Given the description of an element on the screen output the (x, y) to click on. 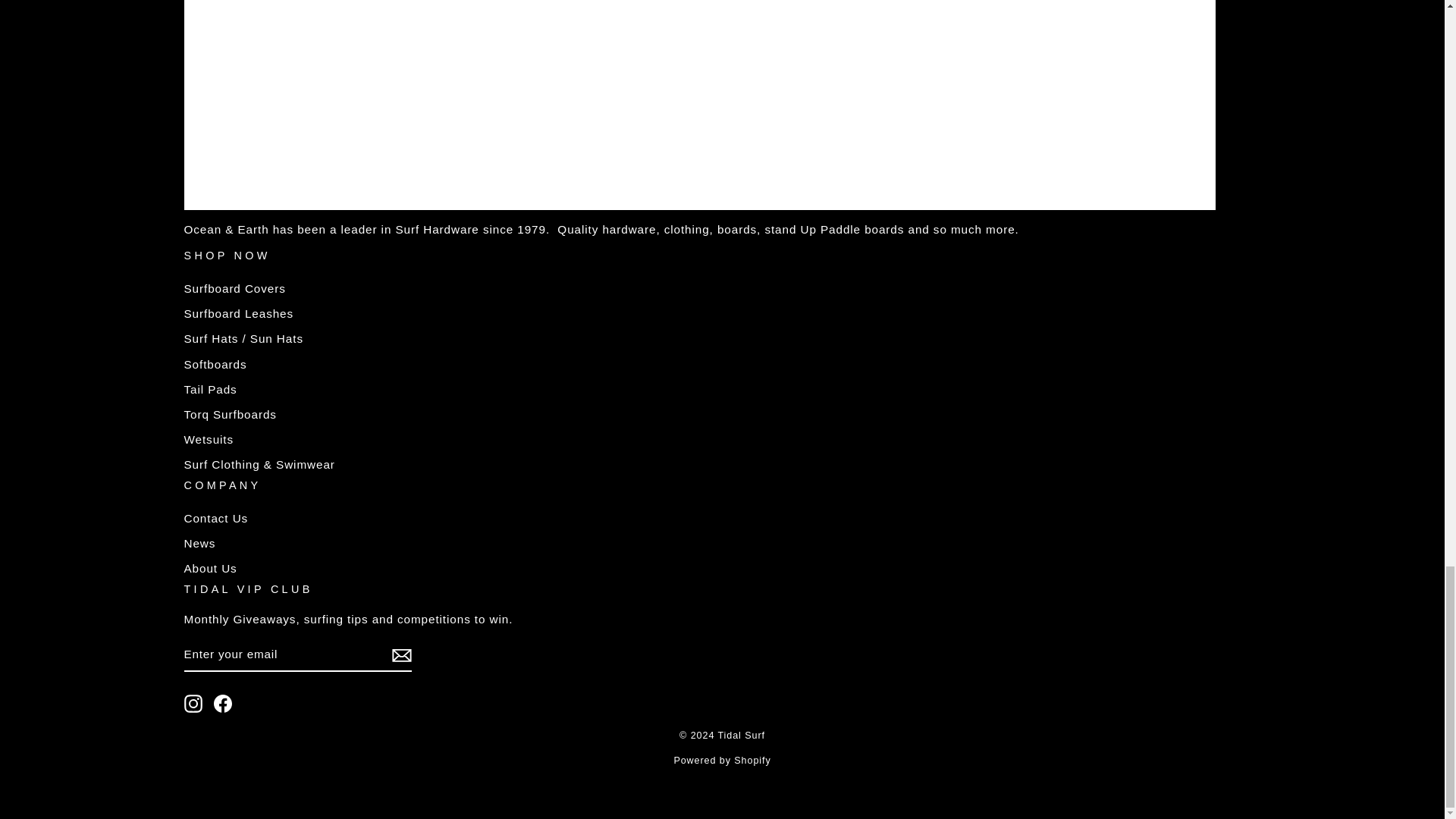
Tidal Surf on Instagram (192, 703)
instagram (192, 703)
Tidal Surf on Facebook (222, 703)
icon-email (400, 656)
